Given the description of an element on the screen output the (x, y) to click on. 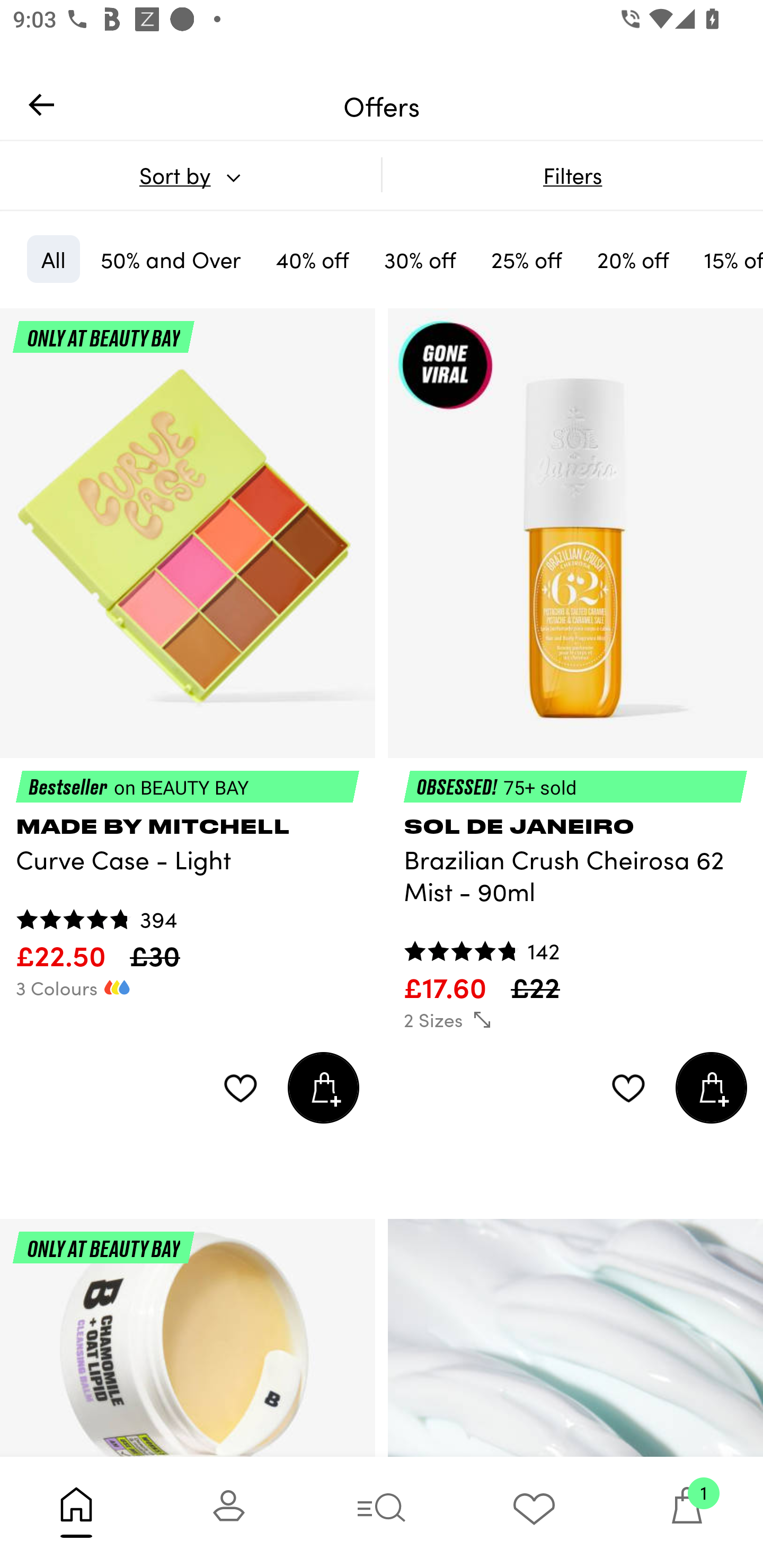
Sort by (190, 174)
Filters (572, 174)
All (53, 258)
50% and Over (170, 258)
40% off (312, 258)
30% off (420, 258)
25% off (526, 258)
20% off (632, 258)
15% off (726, 258)
1 (686, 1512)
